Given the description of an element on the screen output the (x, y) to click on. 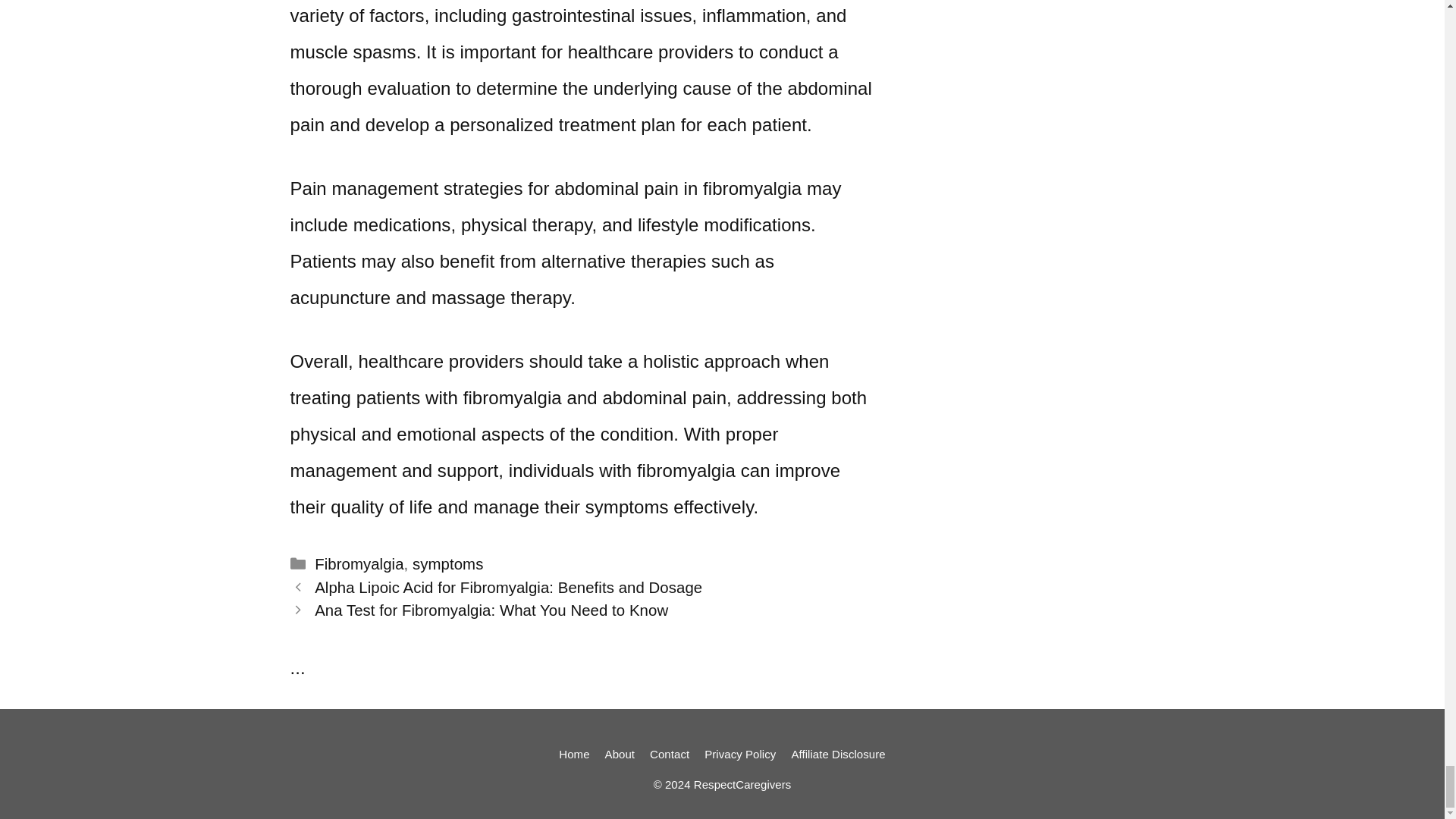
Home (574, 753)
Fibromyalgia (358, 564)
Privacy Policy (740, 753)
Affiliate Disclosure (837, 753)
Contact (668, 753)
Alpha Lipoic Acid for Fibromyalgia: Benefits and Dosage (507, 587)
symptoms (447, 564)
Ana Test for Fibromyalgia: What You Need to Know (491, 610)
About (619, 753)
